Given the description of an element on the screen output the (x, y) to click on. 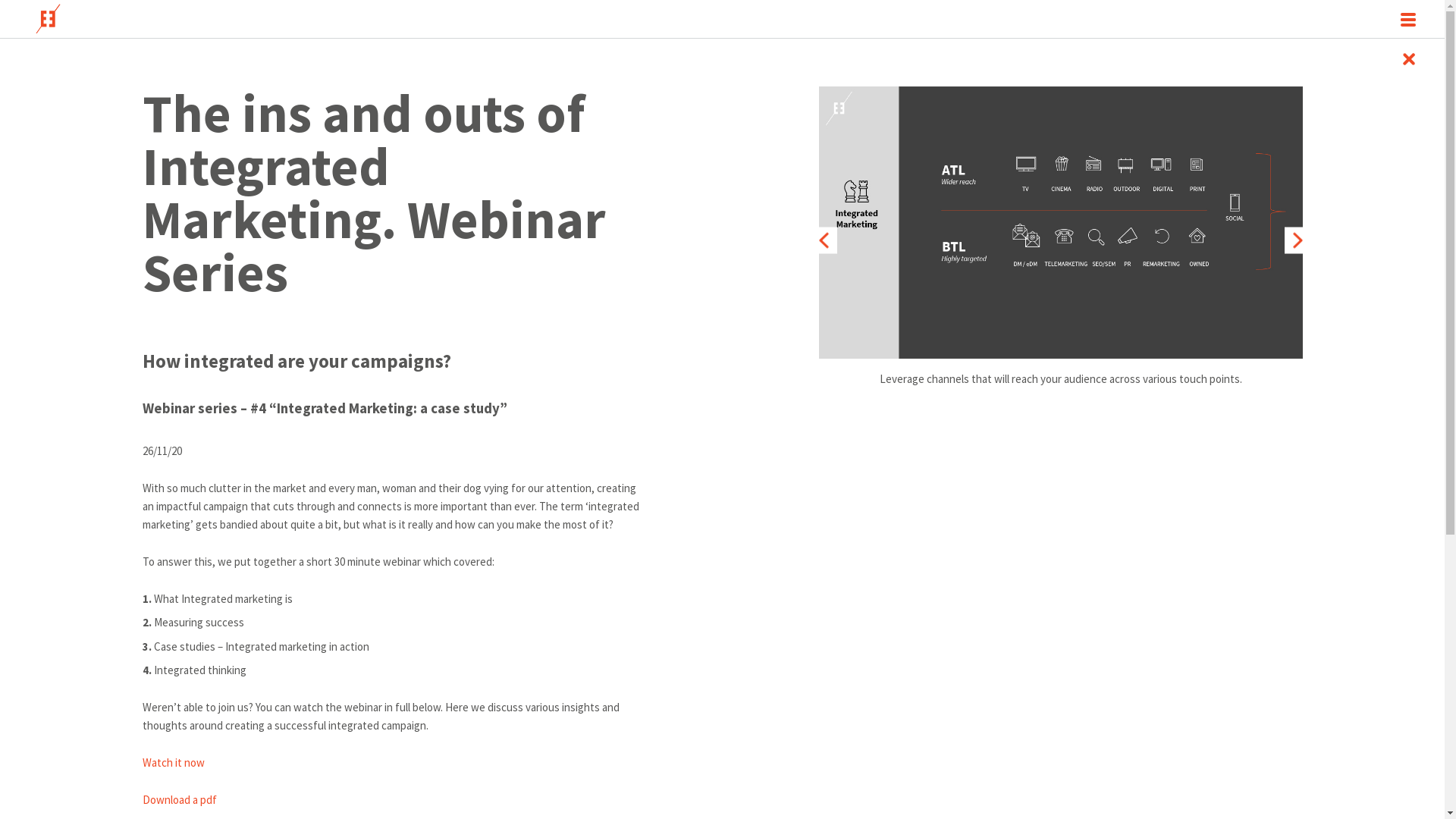
Watch it now Element type: text (173, 762)
Previous Element type: text (823, 239)
Next Element type: text (1297, 239)
Download a pdf Element type: text (179, 799)
